Given the description of an element on the screen output the (x, y) to click on. 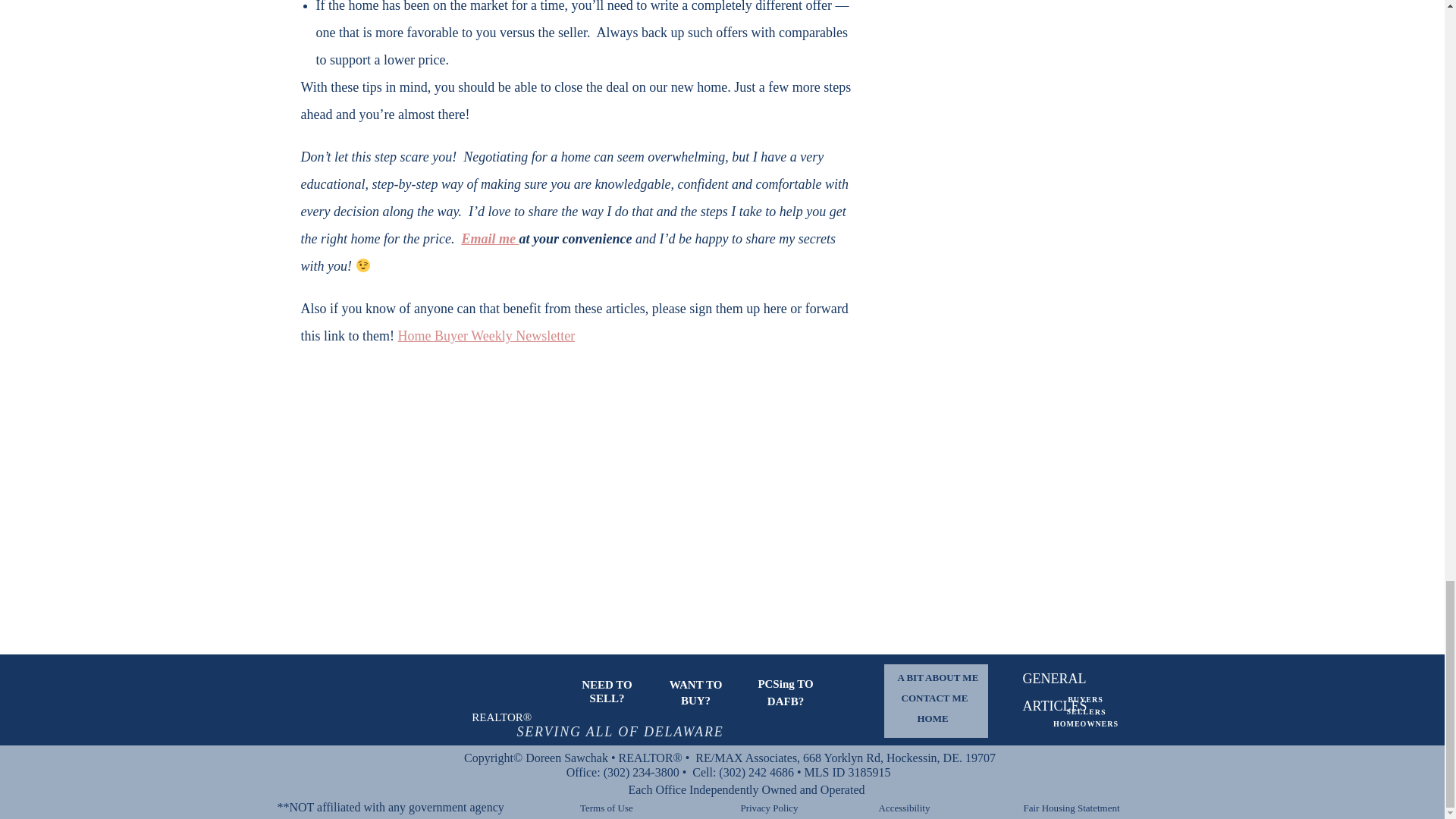
Email me (489, 238)
SELLERS (1085, 710)
Home Buyer Weekly Newsletter (486, 335)
